Given the description of an element on the screen output the (x, y) to click on. 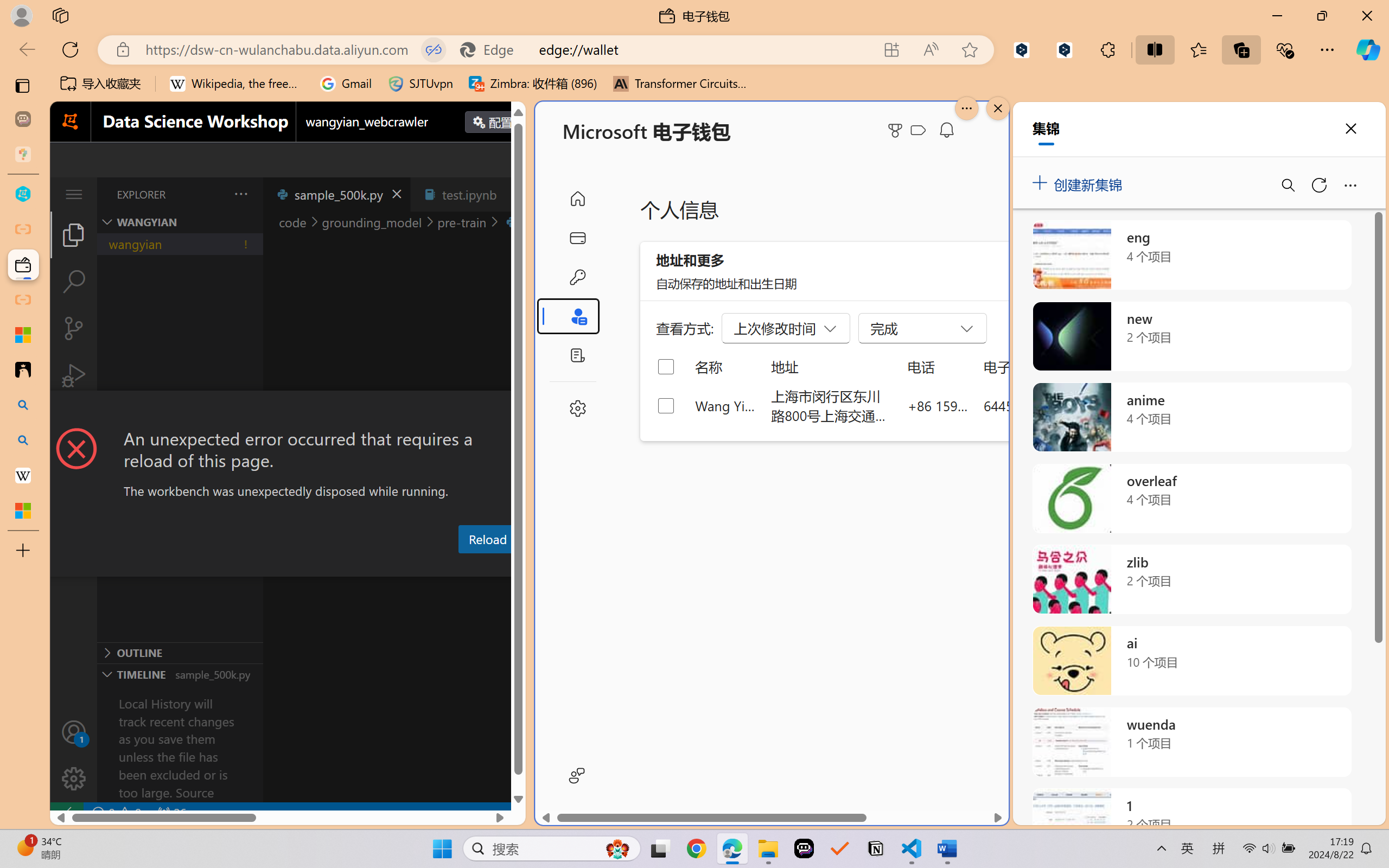
Adjust indents and spacing - Microsoft Support (22, 334)
Terminal (Ctrl+`) (553, 565)
Accounts - Sign in requested (73, 732)
Edge (492, 49)
Close (Ctrl+F4) (512, 194)
